Given the description of an element on the screen output the (x, y) to click on. 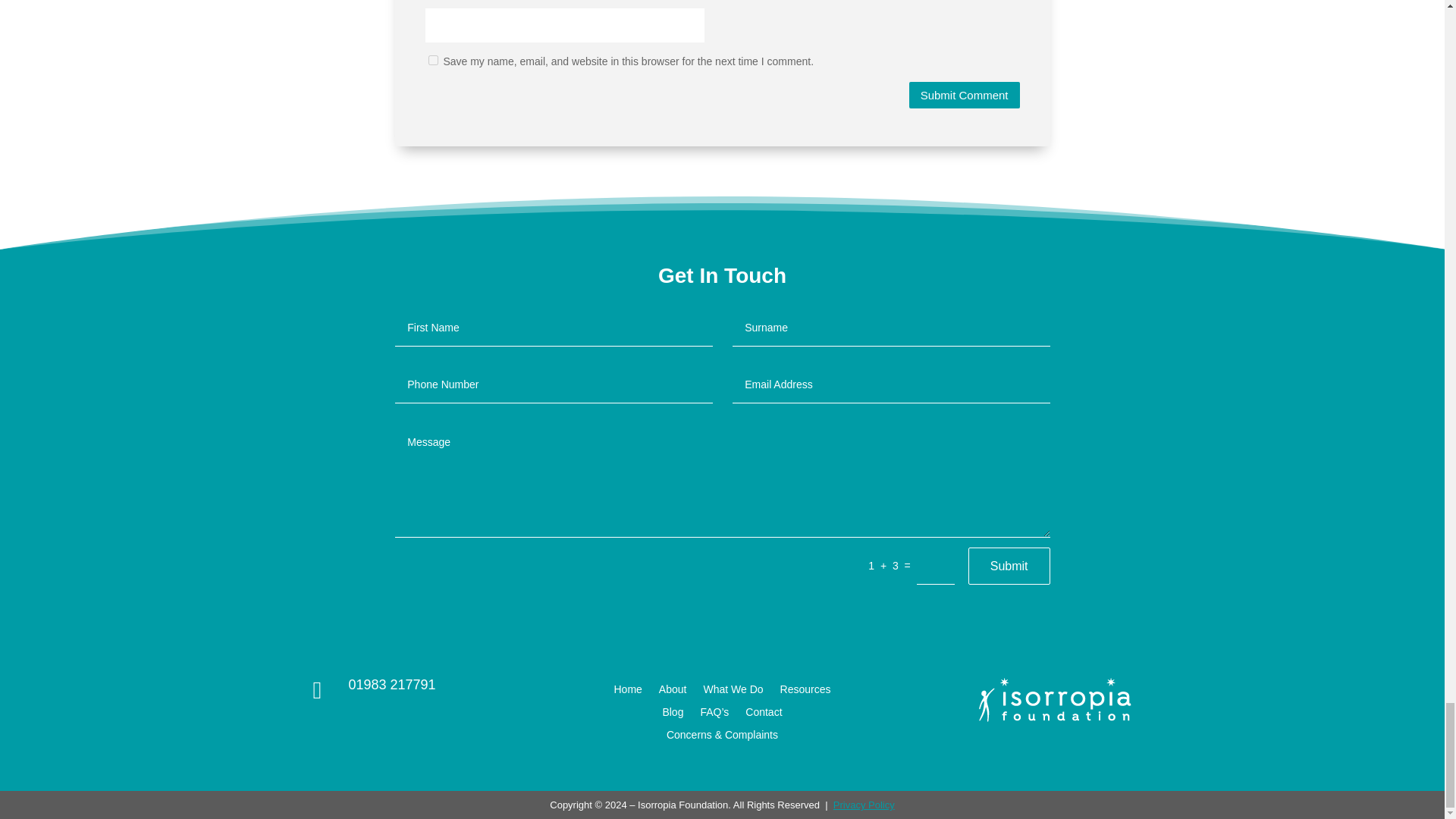
ISO Logo Light (1054, 699)
Only numbers allowed. (552, 384)
yes (433, 60)
